Given the description of an element on the screen output the (x, y) to click on. 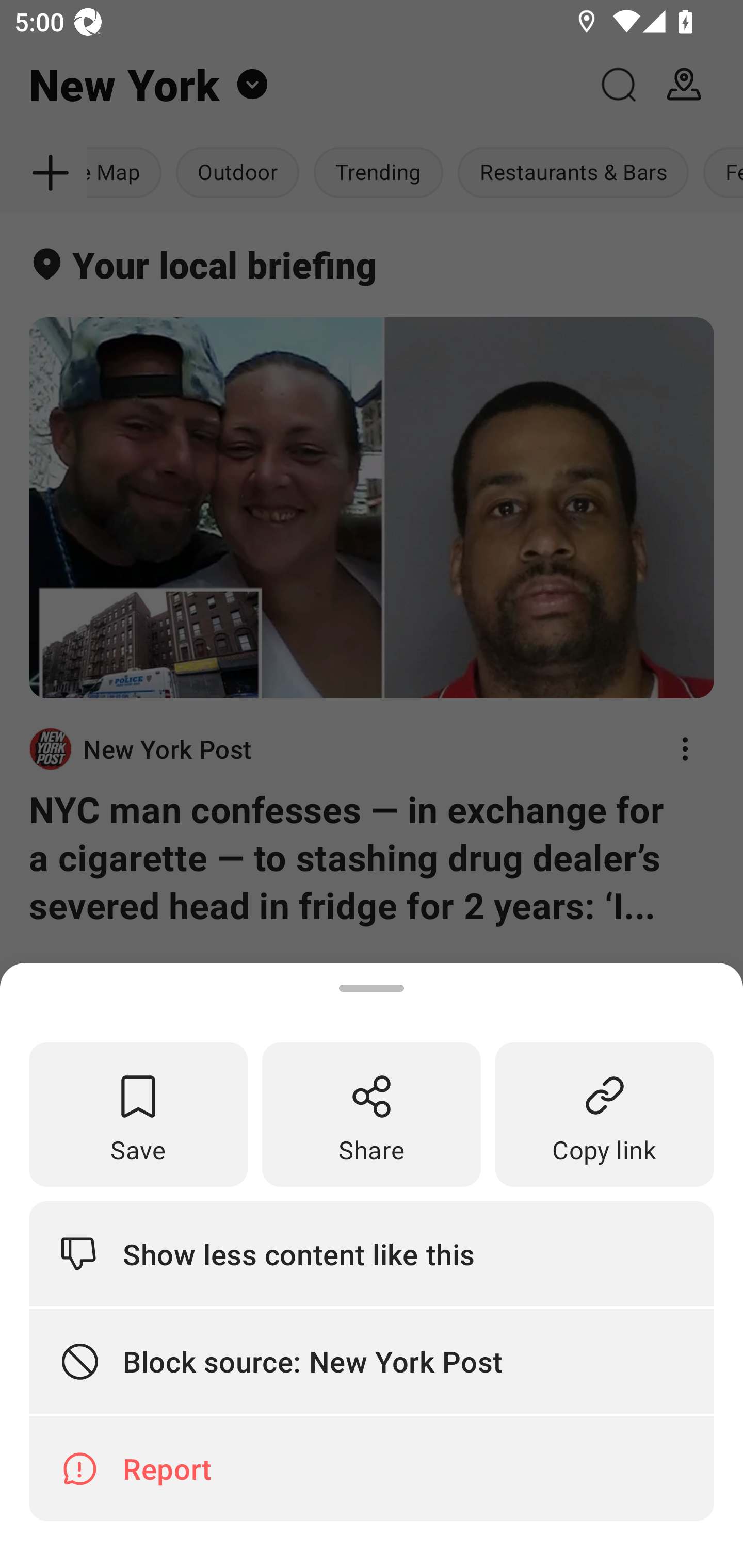
Save (137, 1114)
Share (371, 1114)
Copy link (604, 1114)
Show less content like this (371, 1253)
Block source: New York Post (371, 1361)
Report (371, 1467)
